Given the description of an element on the screen output the (x, y) to click on. 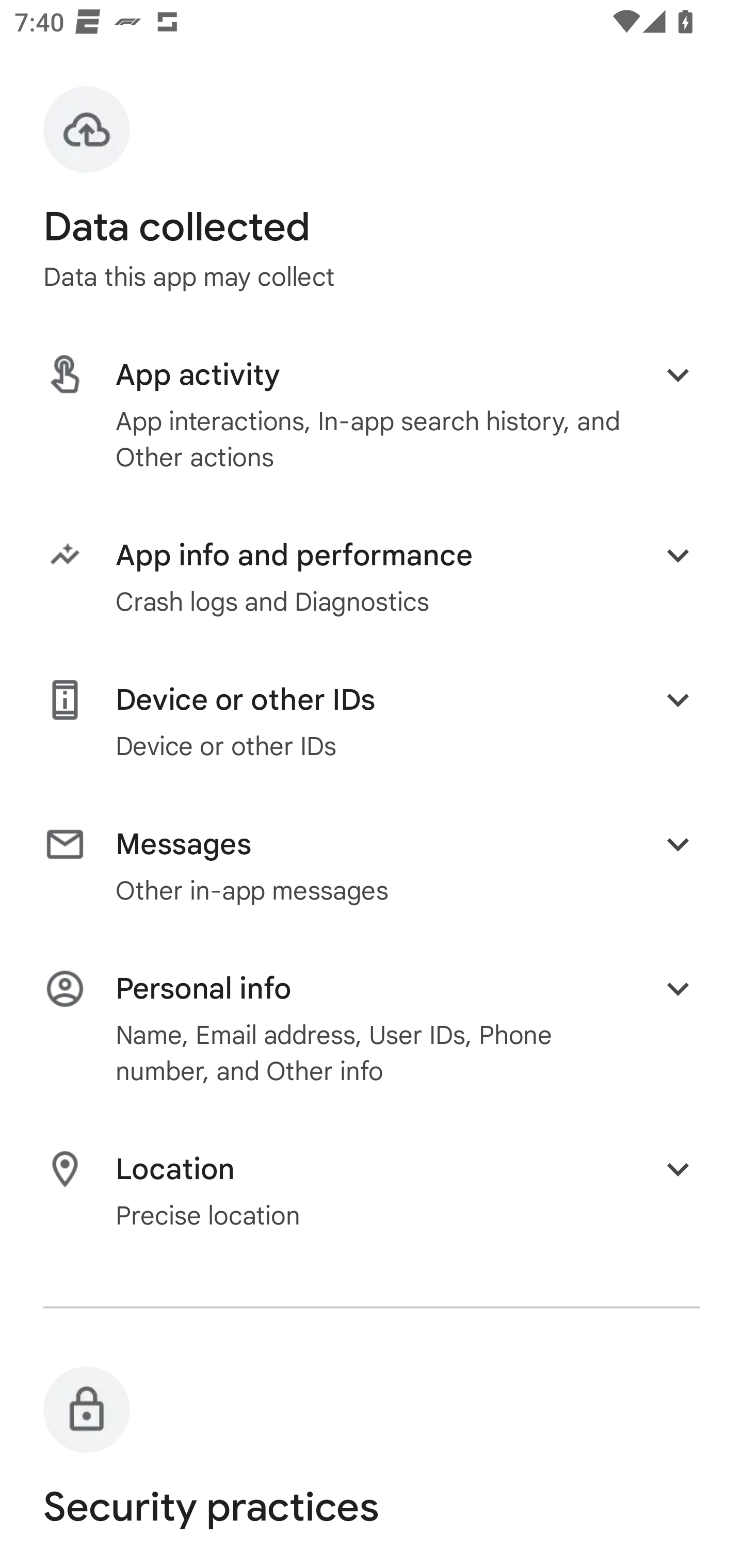
heading Location Precise location Expand button (371, 1190)
